Given the description of an element on the screen output the (x, y) to click on. 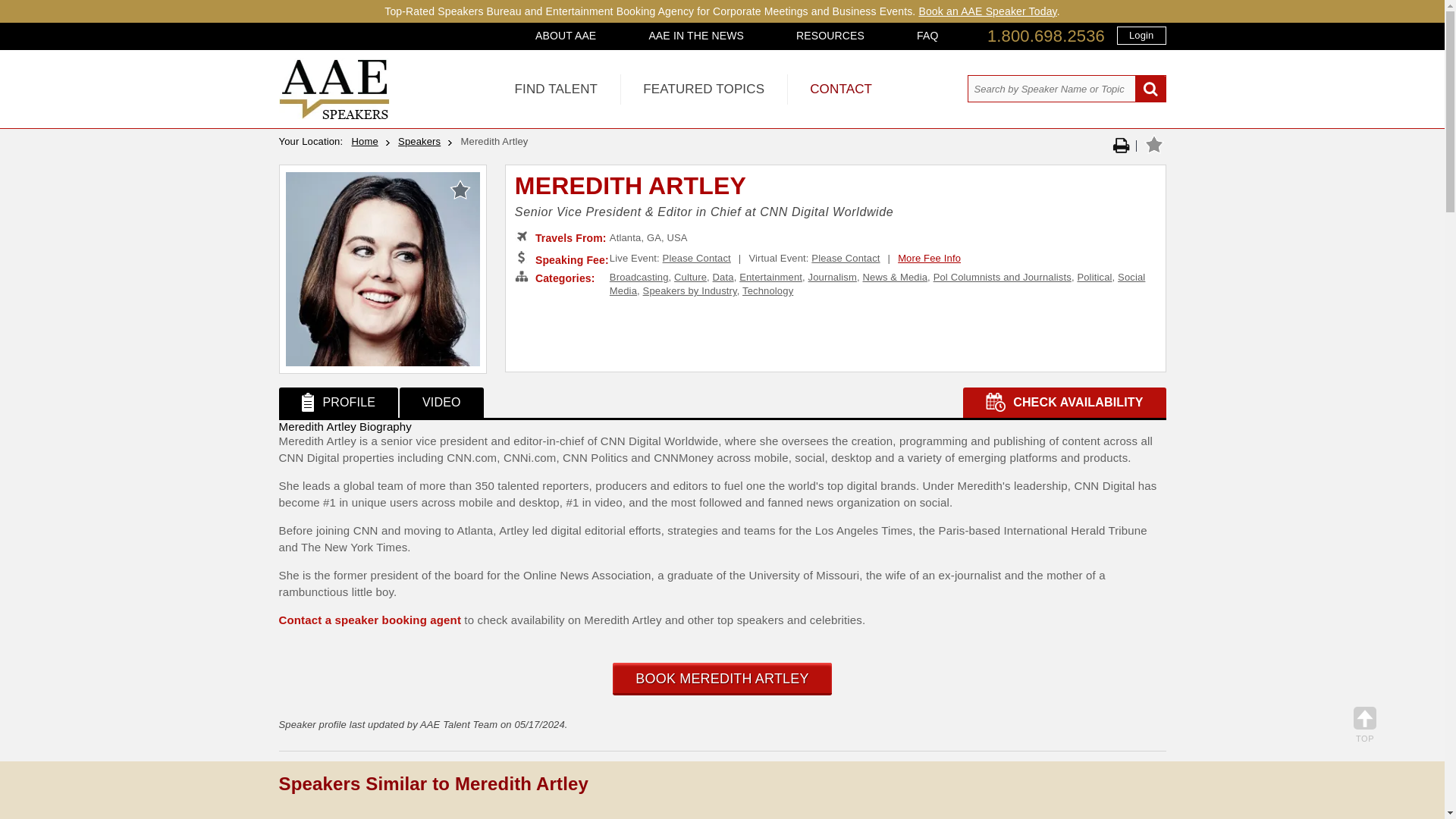
Login (1141, 35)
RESOURCES (829, 34)
FAQ (927, 34)
Book an AAE Speaker Today (987, 10)
Search (1150, 89)
AAE IN THE NEWS (695, 34)
All American Speakers Bureau and Celebrity Booking Agency (334, 115)
1.800.698.2536 (1046, 35)
ABOUT AAE (565, 34)
